Given the description of an element on the screen output the (x, y) to click on. 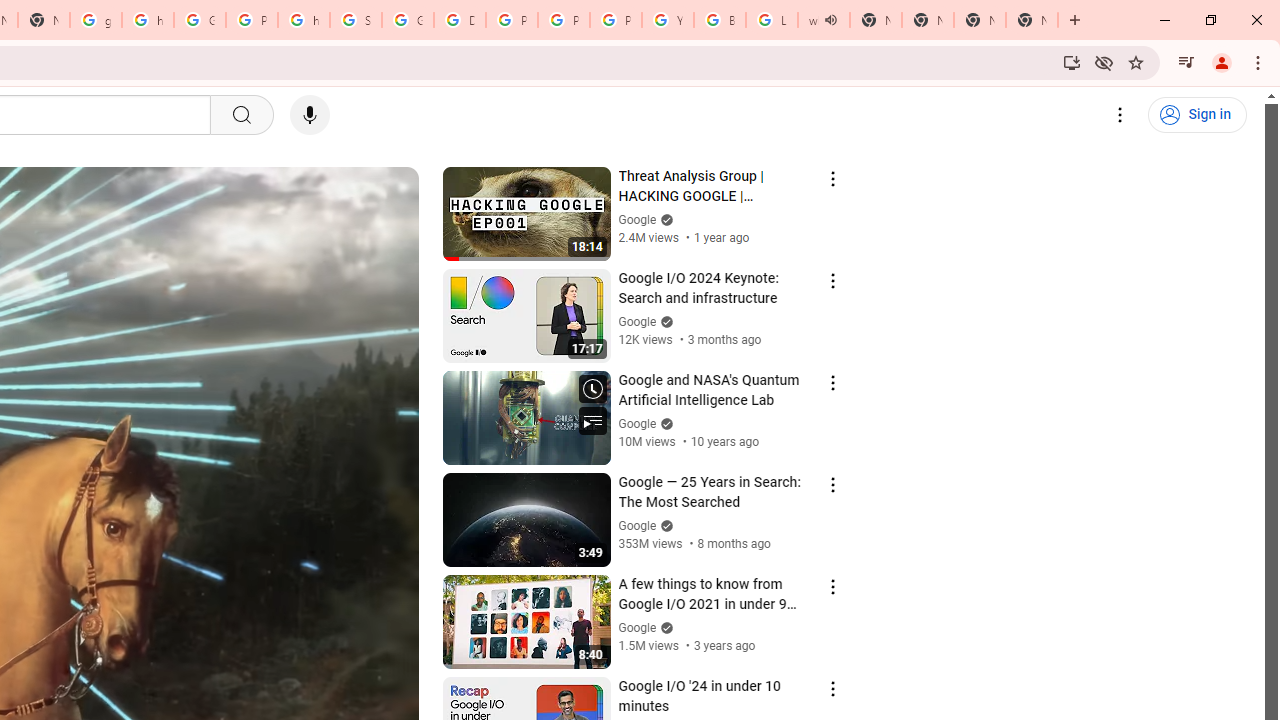
Search with your voice (309, 115)
Settings (1119, 115)
Install YouTube (1071, 62)
Mute tab (830, 20)
Privacy Help Center - Policies Help (511, 20)
